Given the description of an element on the screen output the (x, y) to click on. 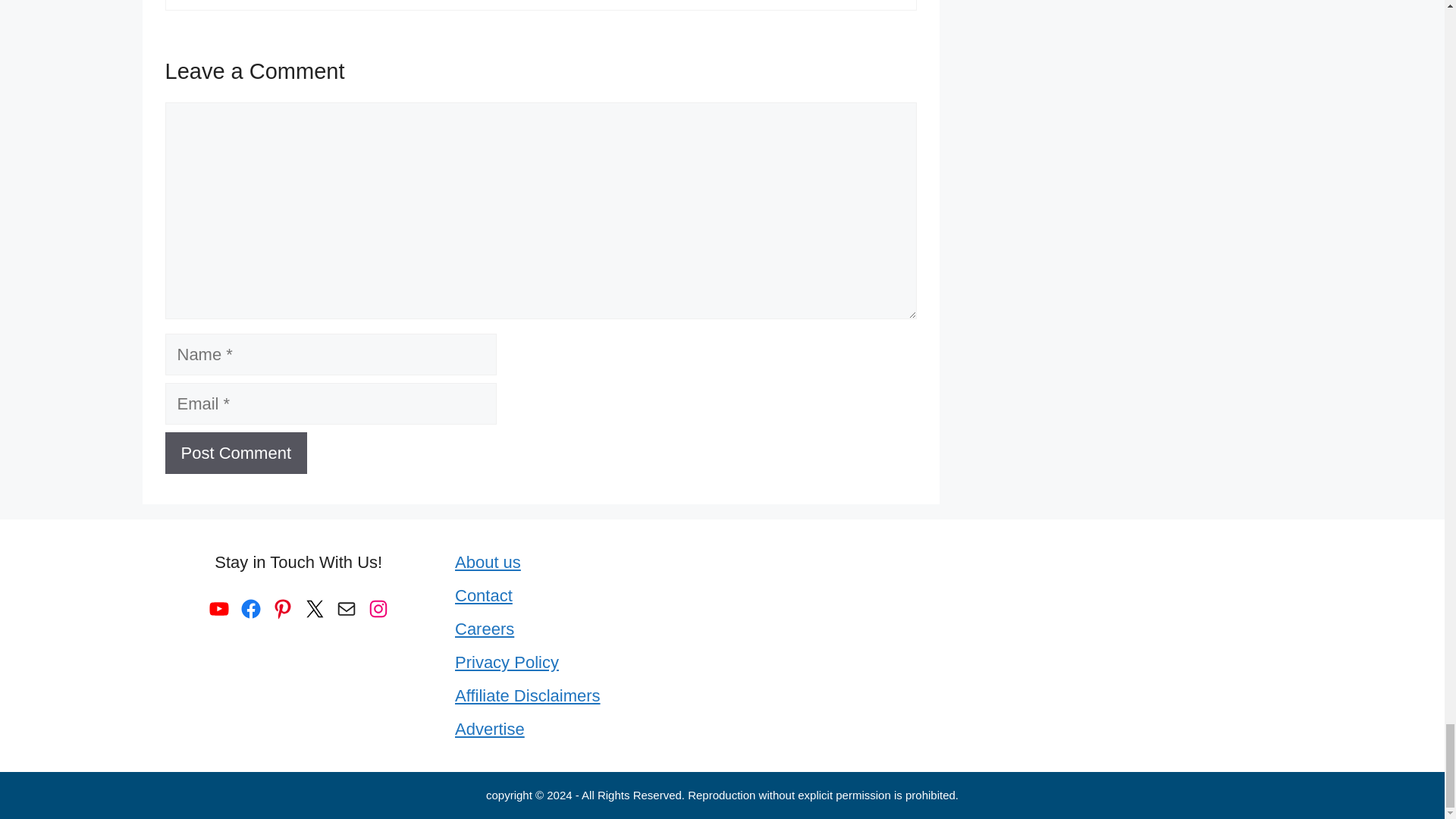
Post Comment (236, 453)
